Given the description of an element on the screen output the (x, y) to click on. 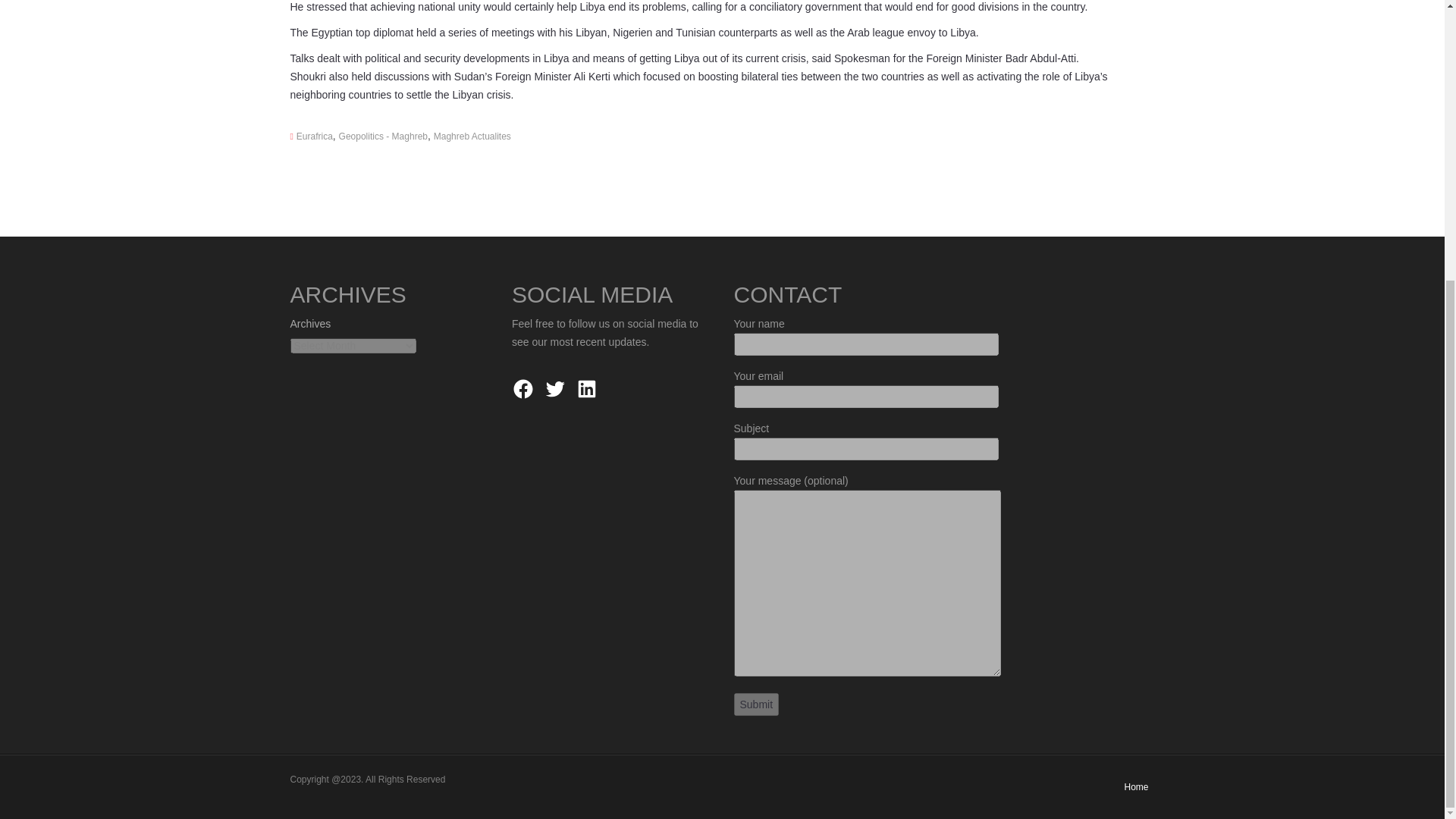
Maghreb Actualites (472, 136)
Geopolitics - Maghreb (383, 136)
Submit (755, 703)
Home (1136, 787)
Eurafrica (315, 136)
Submit (755, 703)
